Given the description of an element on the screen output the (x, y) to click on. 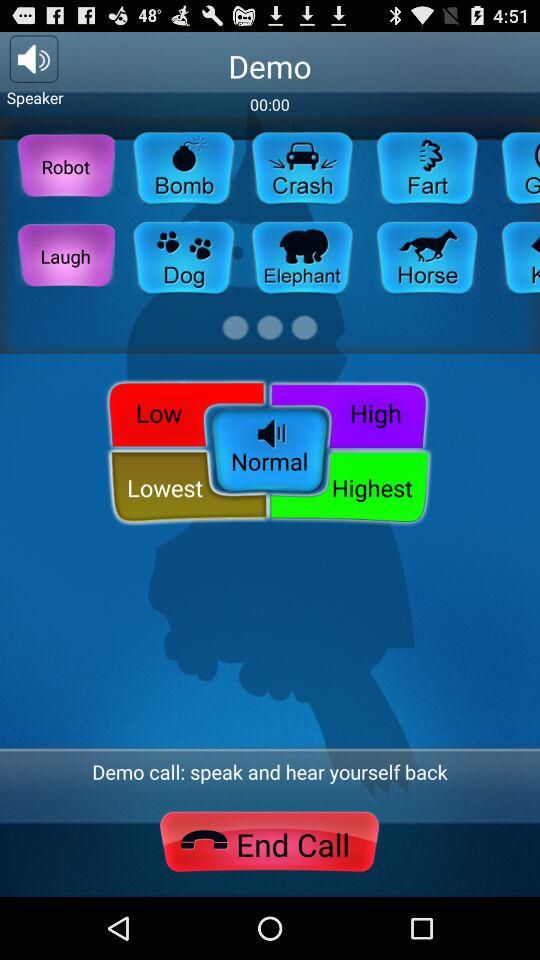
jump to normal item (269, 452)
